Given the description of an element on the screen output the (x, y) to click on. 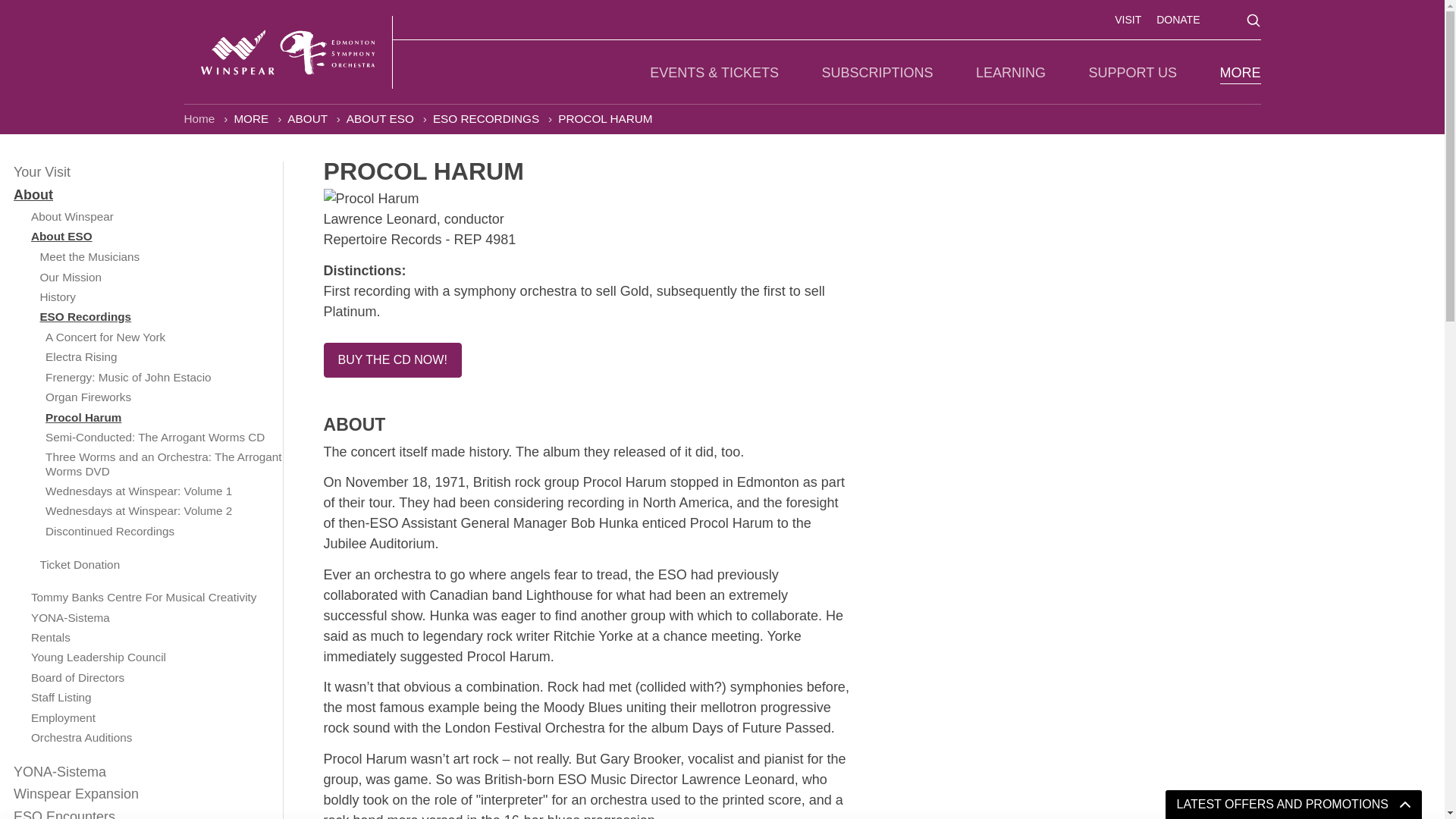
 Procol Harum (585, 199)
Donate (1177, 19)
SUBSCRIPTIONS (877, 73)
Home (199, 118)
More (251, 118)
About (308, 118)
ESO RECORDINGS (487, 118)
Electra Rising (147, 356)
ABOUT (308, 118)
ESO Recordings (487, 118)
